Given the description of an element on the screen output the (x, y) to click on. 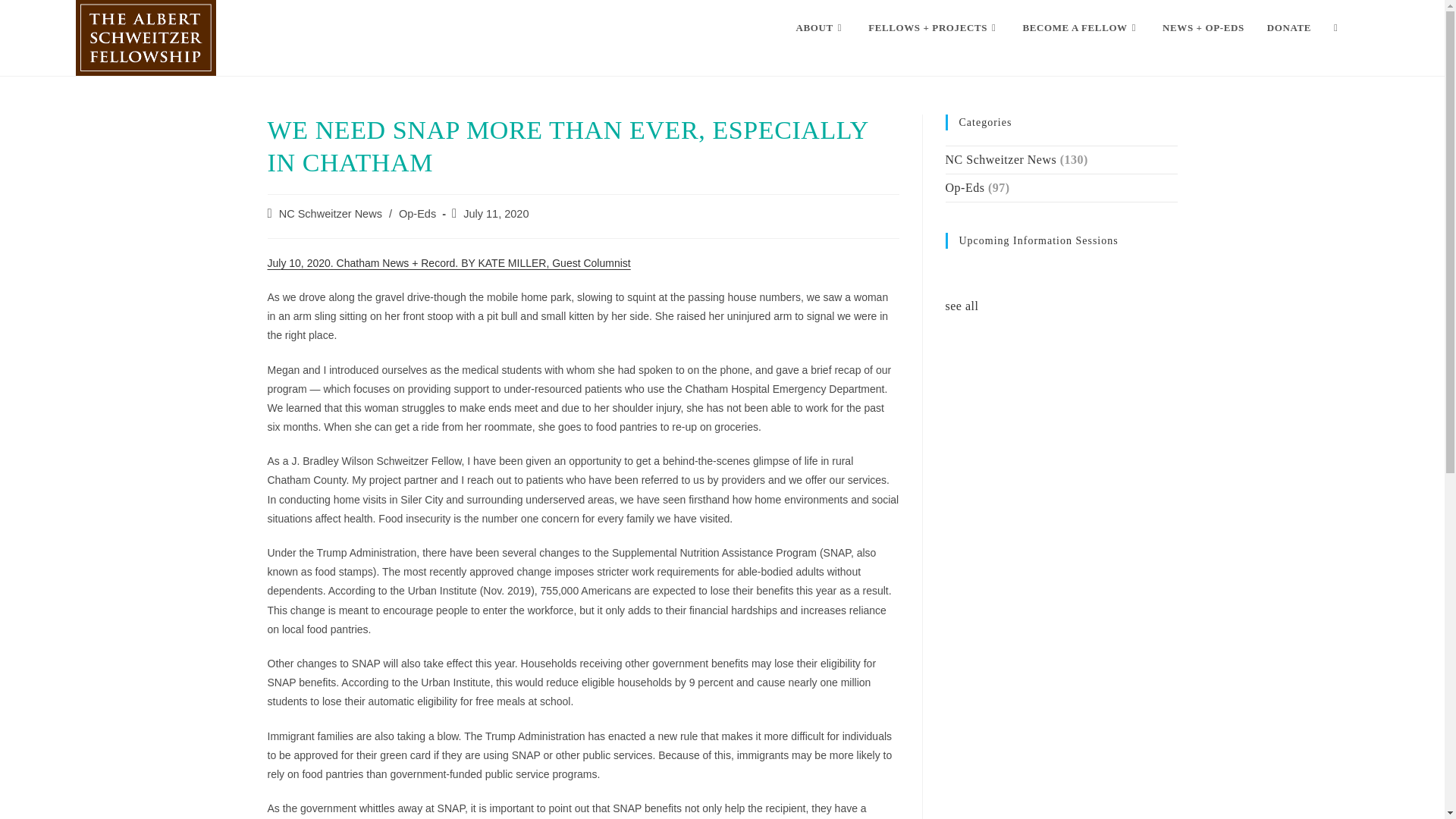
NC Schweitzer News (330, 214)
see all (961, 305)
Op-Eds (416, 214)
BECOME A FELLOW (1080, 28)
DONATE (1288, 28)
ABOUT (820, 28)
Jul (273, 263)
